Given the description of an element on the screen output the (x, y) to click on. 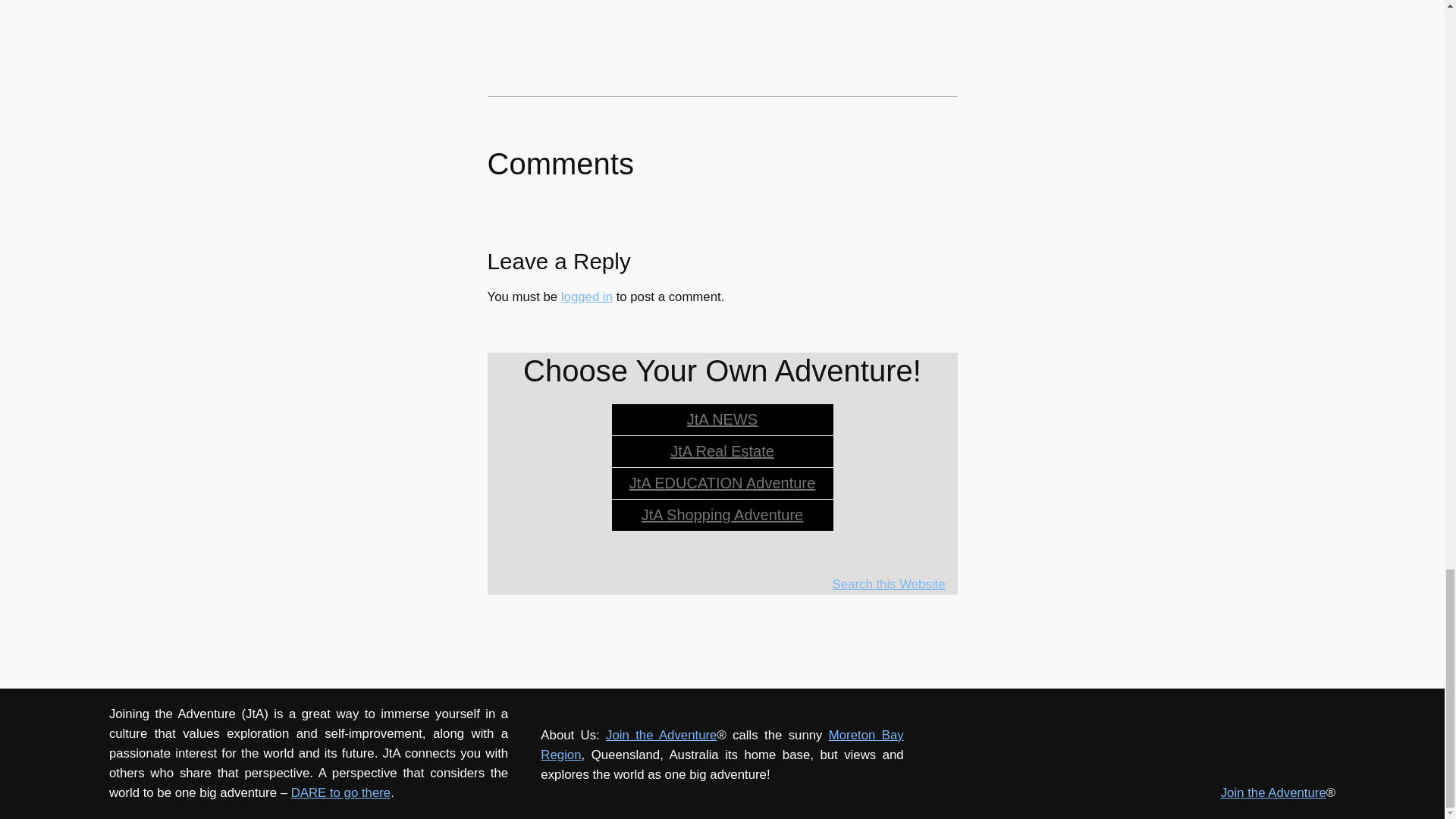
Moreton Bay Region (721, 745)
Search this Website (888, 584)
logged in (586, 296)
Join the Adventure (660, 735)
DARE to go there (341, 792)
Join the Adventure (1273, 792)
